Given the description of an element on the screen output the (x, y) to click on. 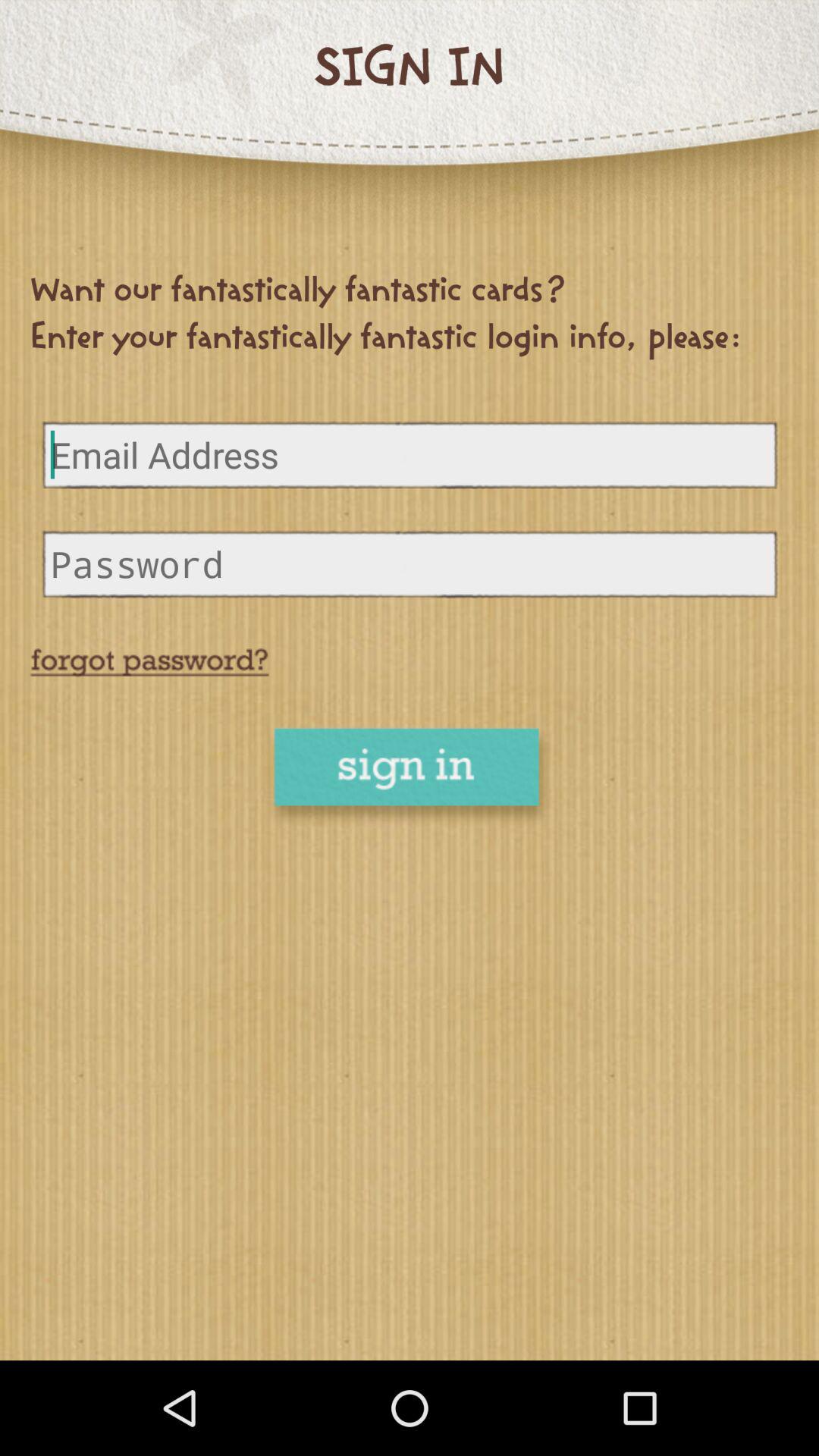
reset password (149, 662)
